Given the description of an element on the screen output the (x, y) to click on. 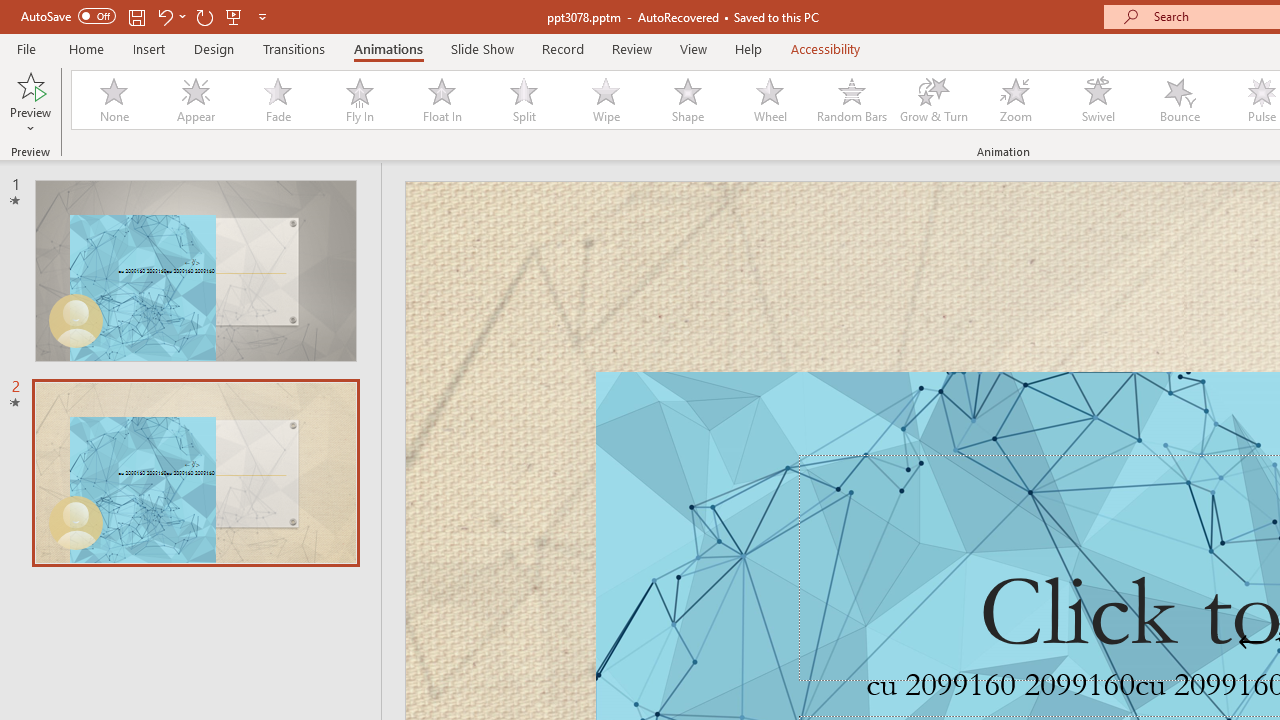
Fly In (359, 100)
Bounce (1180, 100)
